Given the description of an element on the screen output the (x, y) to click on. 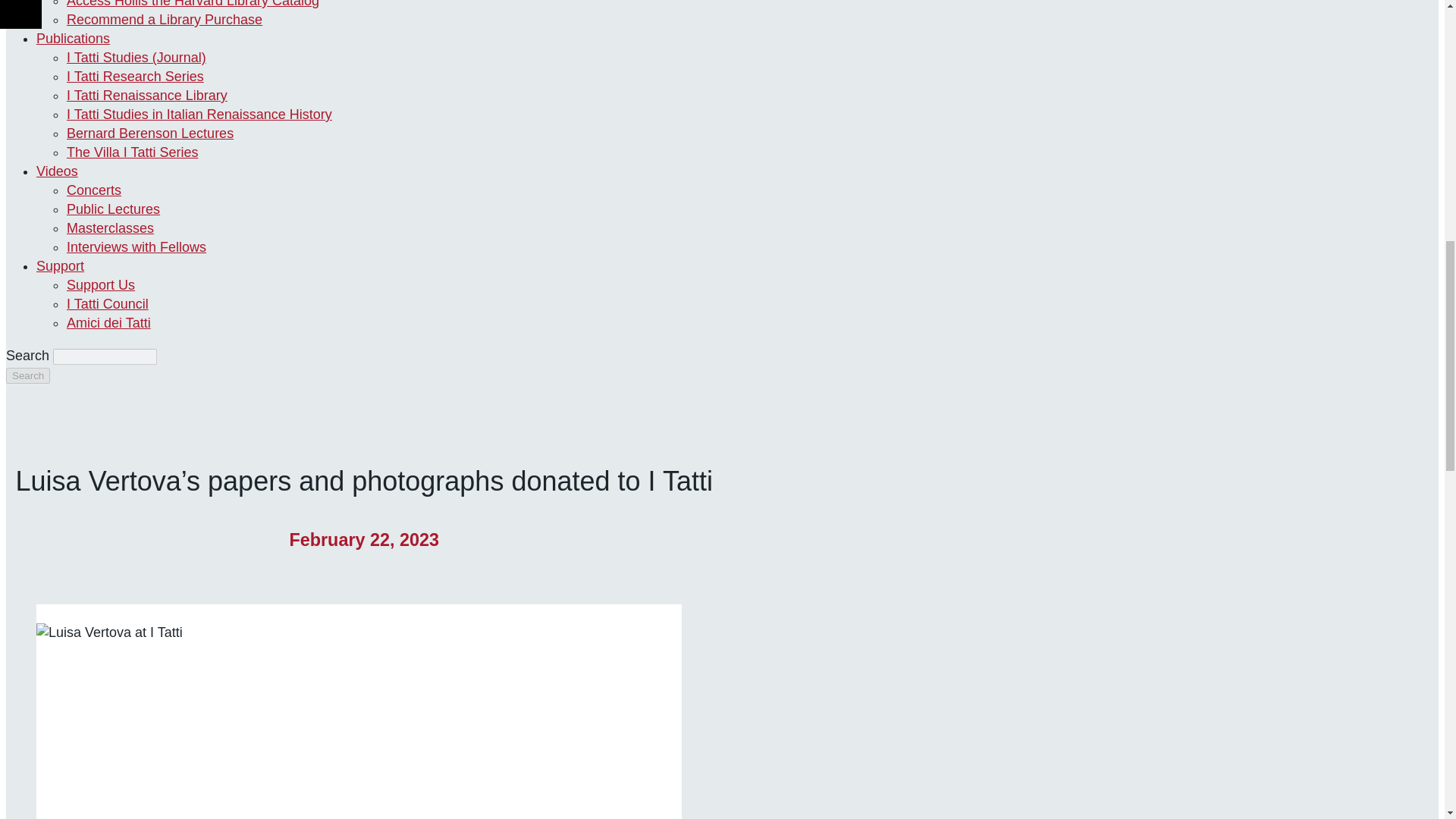
Search (27, 375)
Enter the terms you wish to search for. (104, 356)
